Given the description of an element on the screen output the (x, y) to click on. 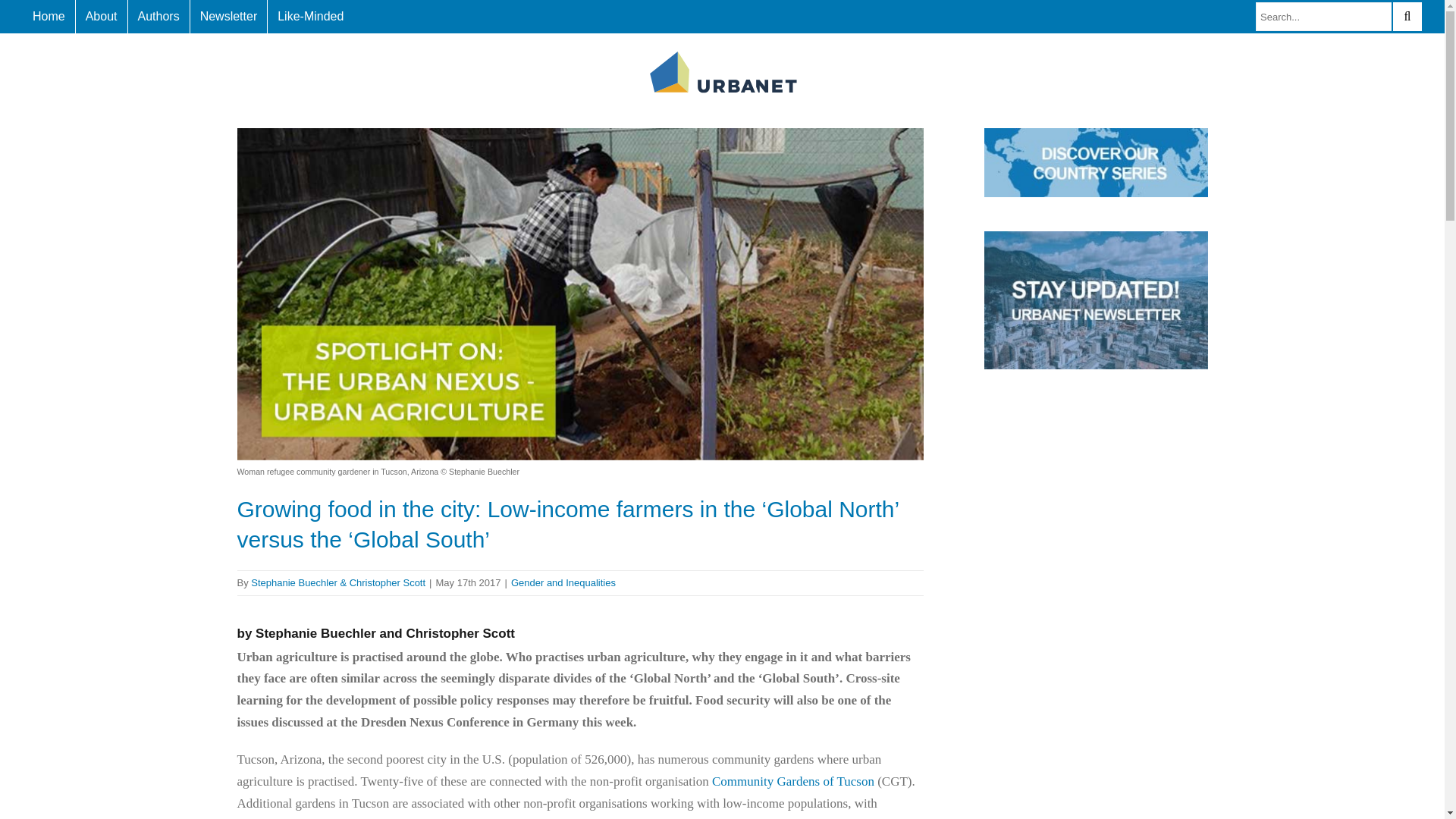
About (101, 16)
Authors (158, 16)
Like-Minded (310, 16)
Newsletter (228, 16)
Home (49, 16)
